Given the description of an element on the screen output the (x, y) to click on. 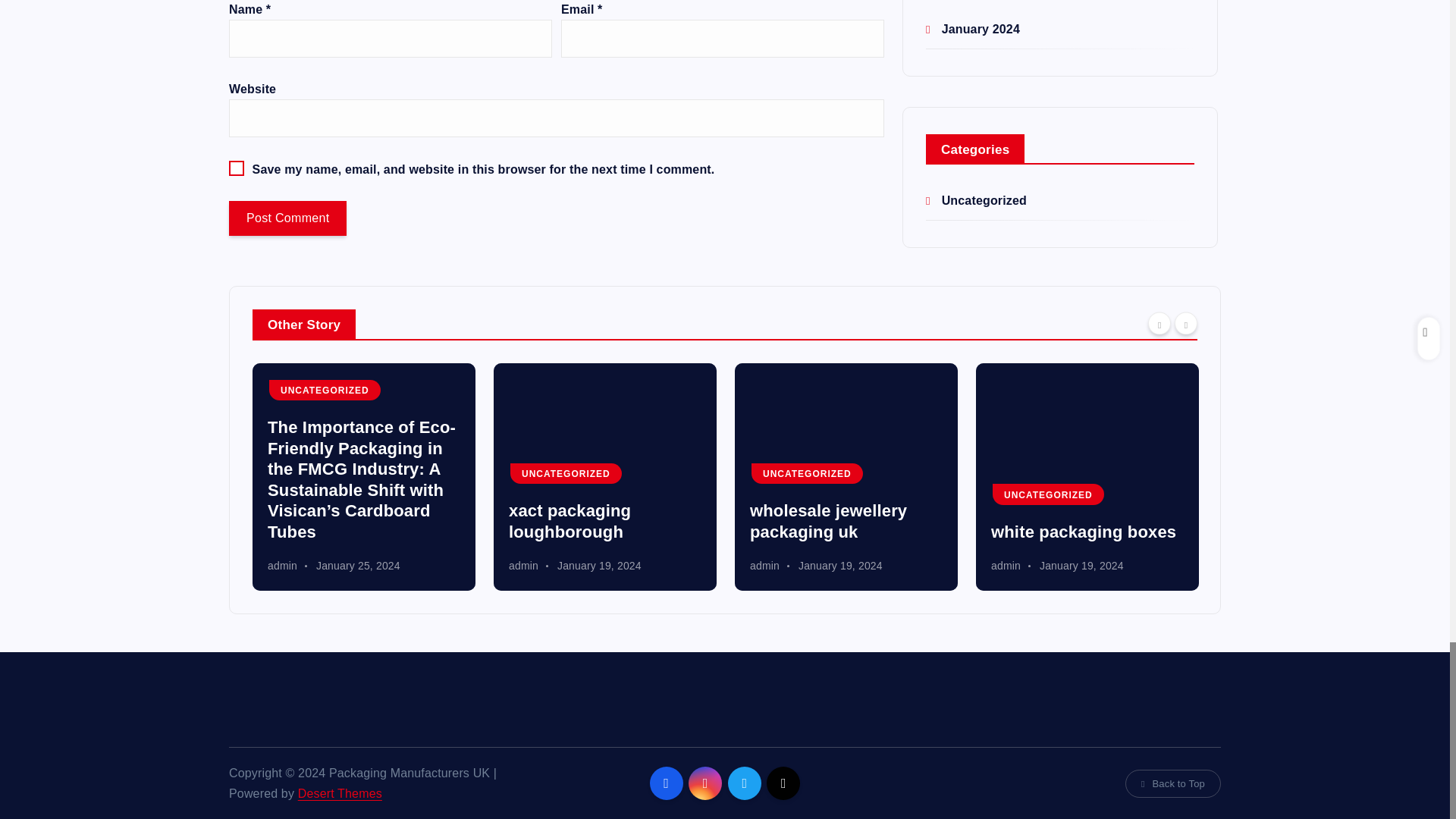
yes (236, 168)
Post Comment (287, 217)
Post Comment (287, 217)
